Given the description of an element on the screen output the (x, y) to click on. 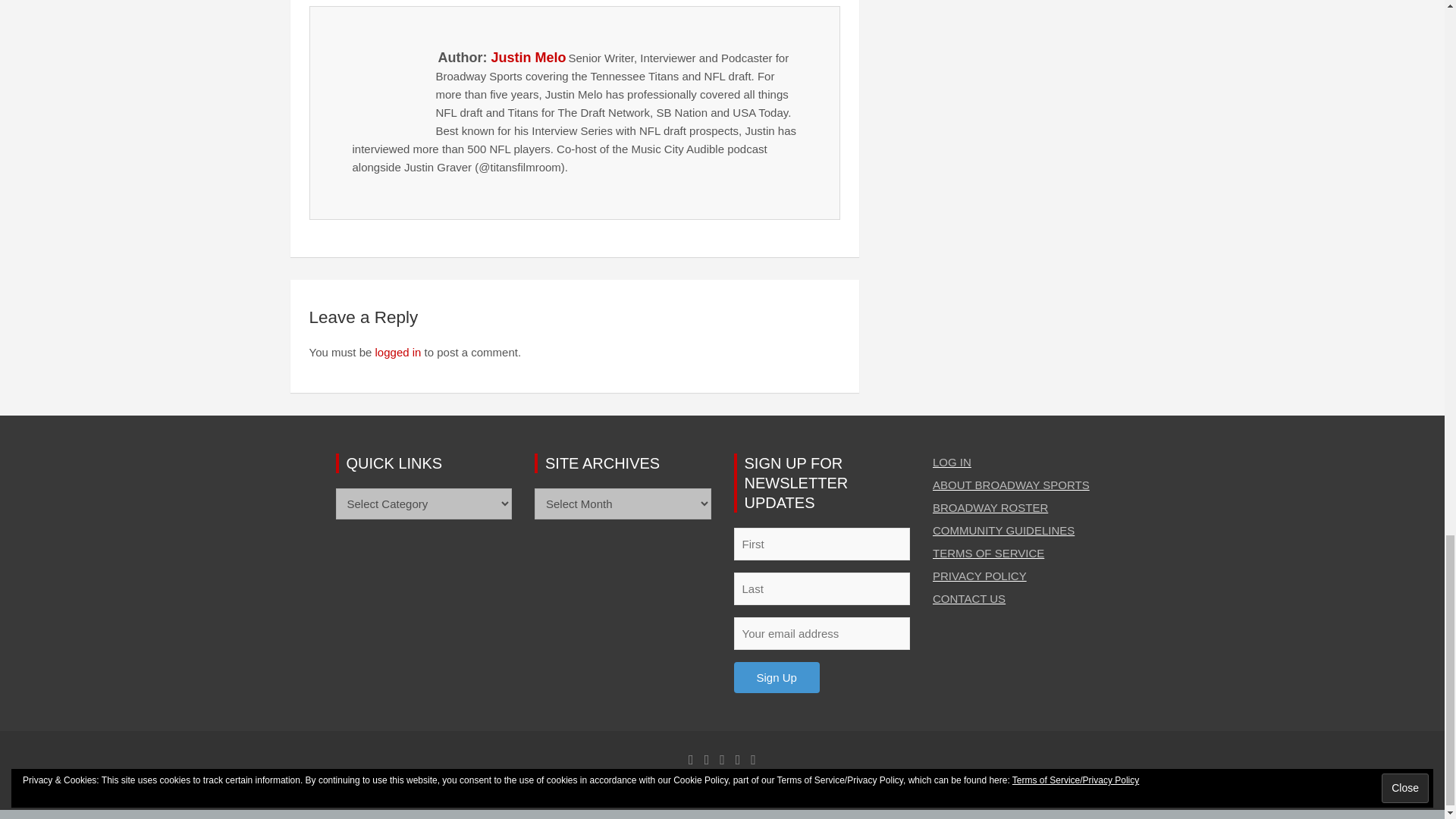
Sign Up (776, 676)
Broadway Sports Media (536, 789)
